Given the description of an element on the screen output the (x, y) to click on. 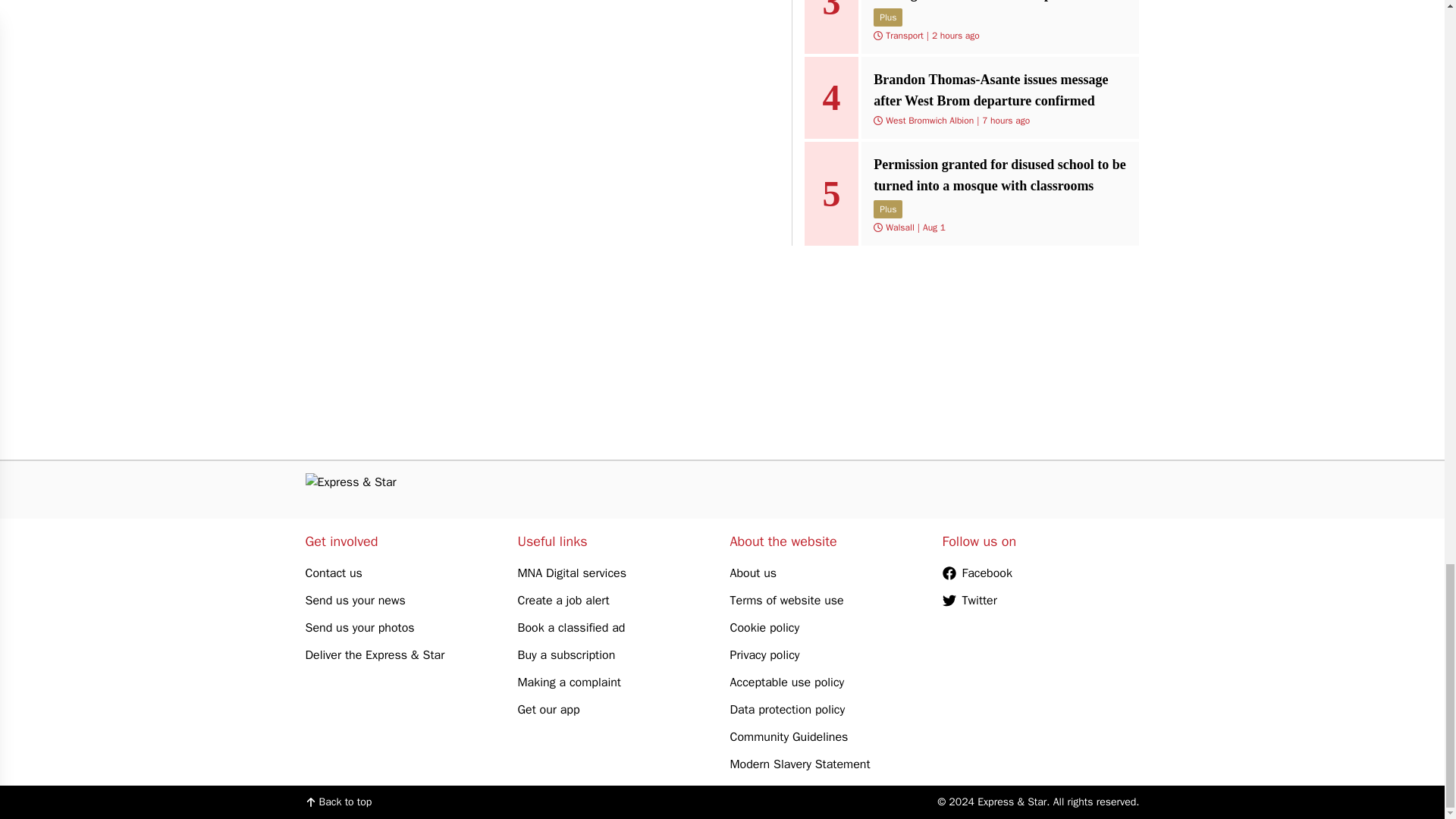
Walsall (899, 227)
West Bromwich Albion (929, 120)
Transport (904, 35)
